Given the description of an element on the screen output the (x, y) to click on. 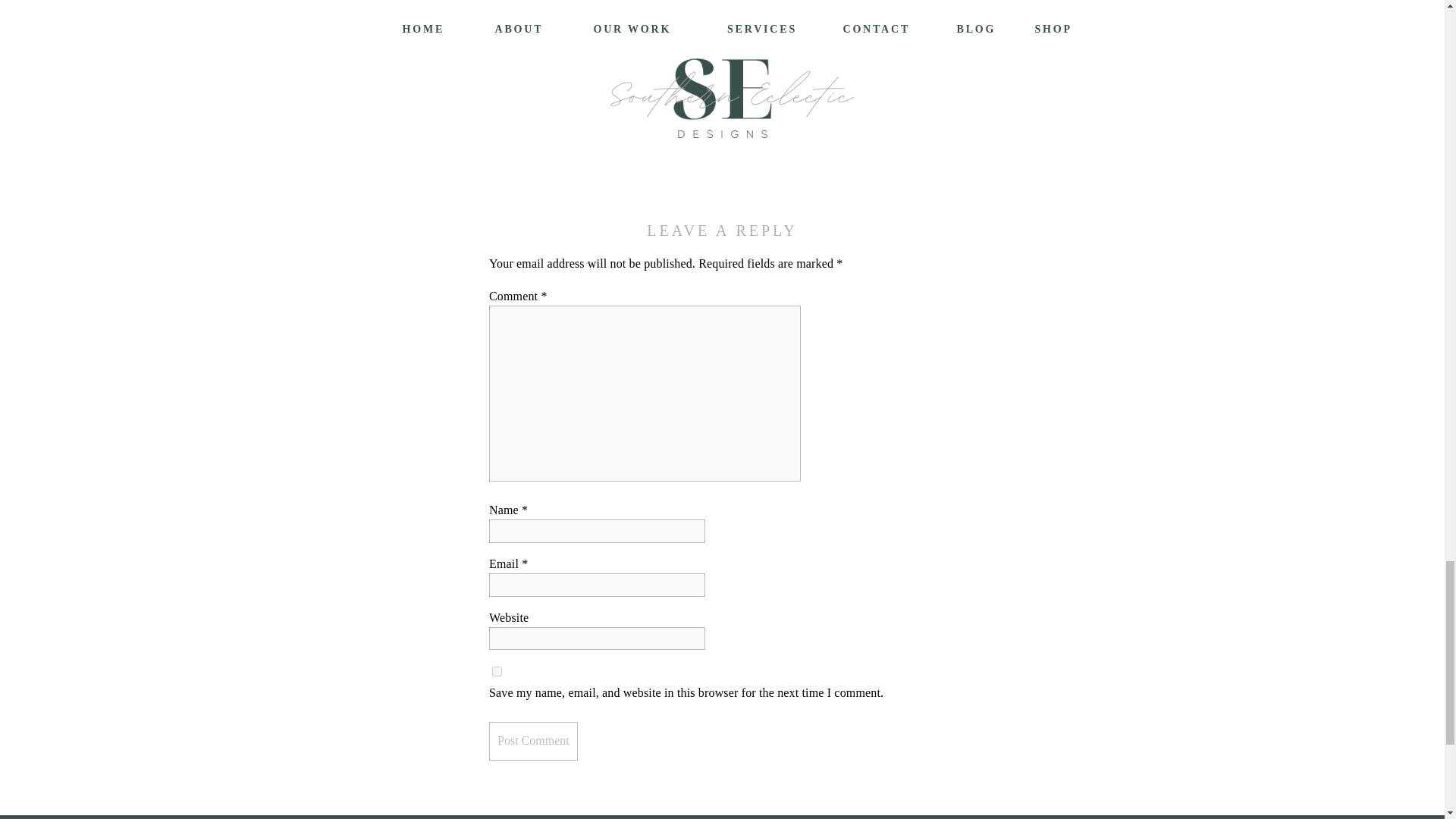
Be the first to comment (548, 147)
Post Comment (533, 740)
yes (497, 671)
Post Comment (533, 740)
